Given the description of an element on the screen output the (x, y) to click on. 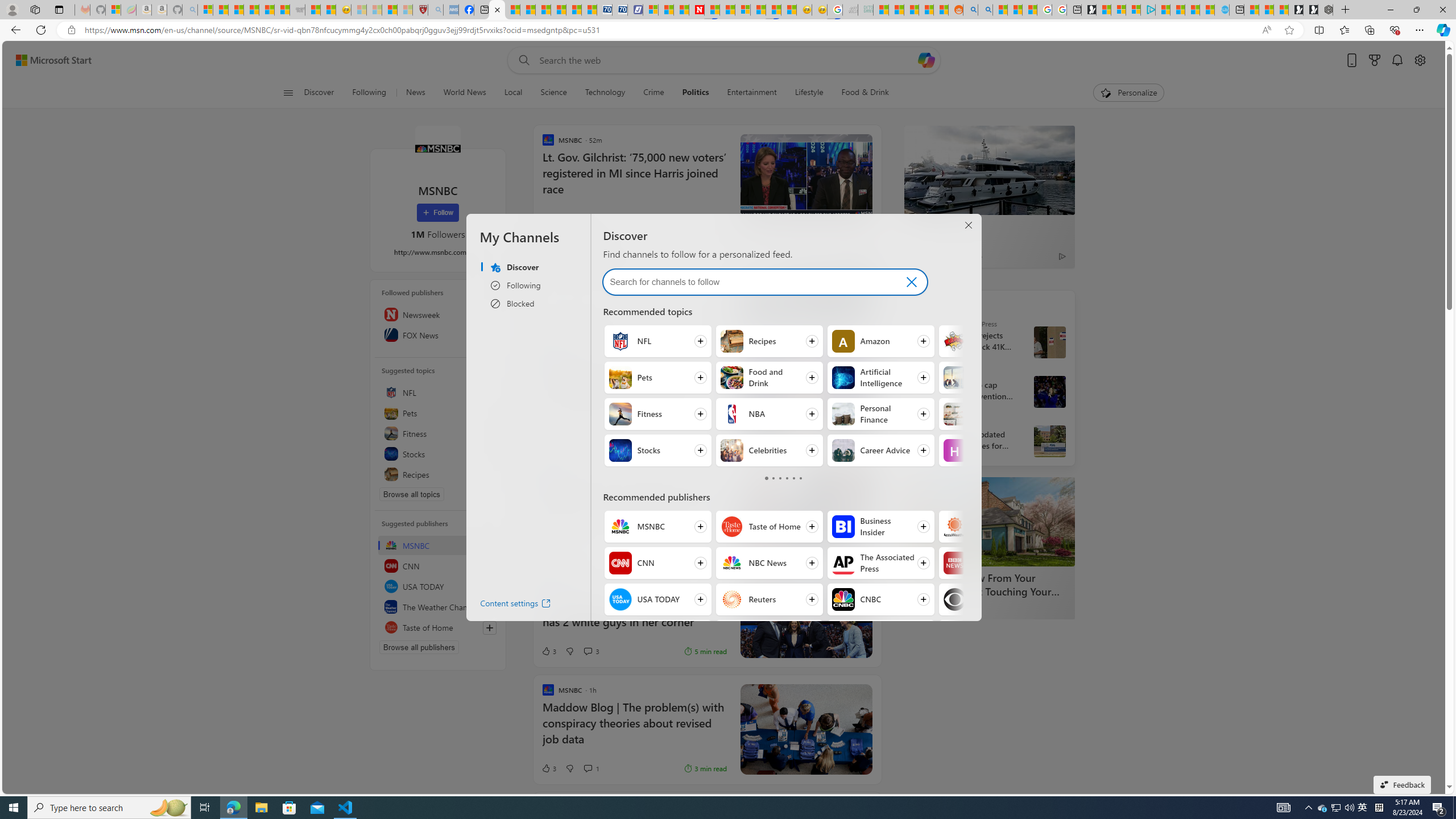
Food & Drink (865, 92)
Local (512, 92)
Follow Taste of Home (768, 526)
Follow Amazon (880, 341)
BBC (954, 563)
